Given the description of an element on the screen output the (x, y) to click on. 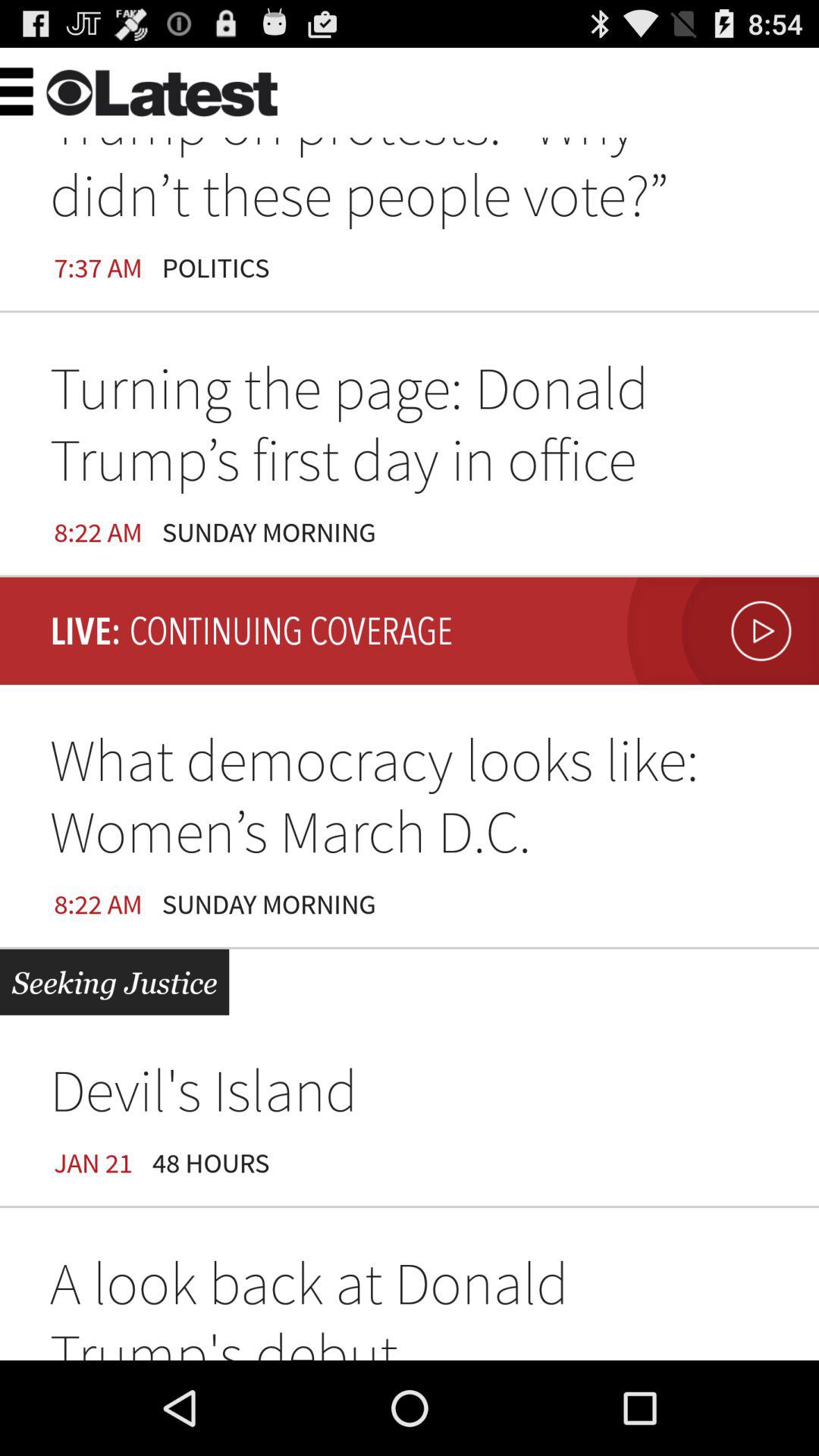
launch icon above 8:22 am icon (409, 429)
